Given the description of an element on the screen output the (x, y) to click on. 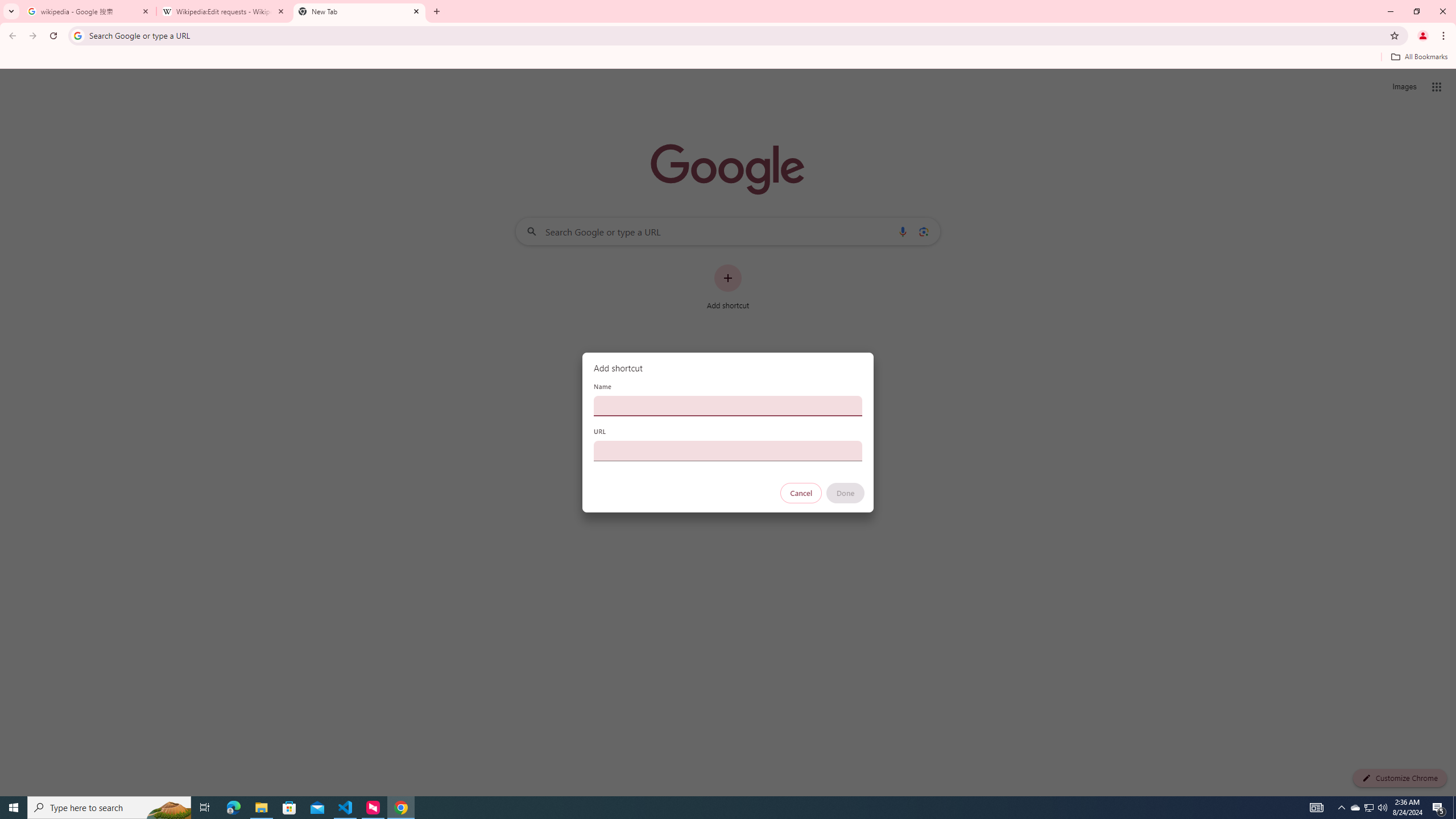
URL (727, 450)
Name (727, 405)
Cancel (801, 493)
Bookmarks (728, 58)
New Tab (359, 11)
